Given the description of an element on the screen output the (x, y) to click on. 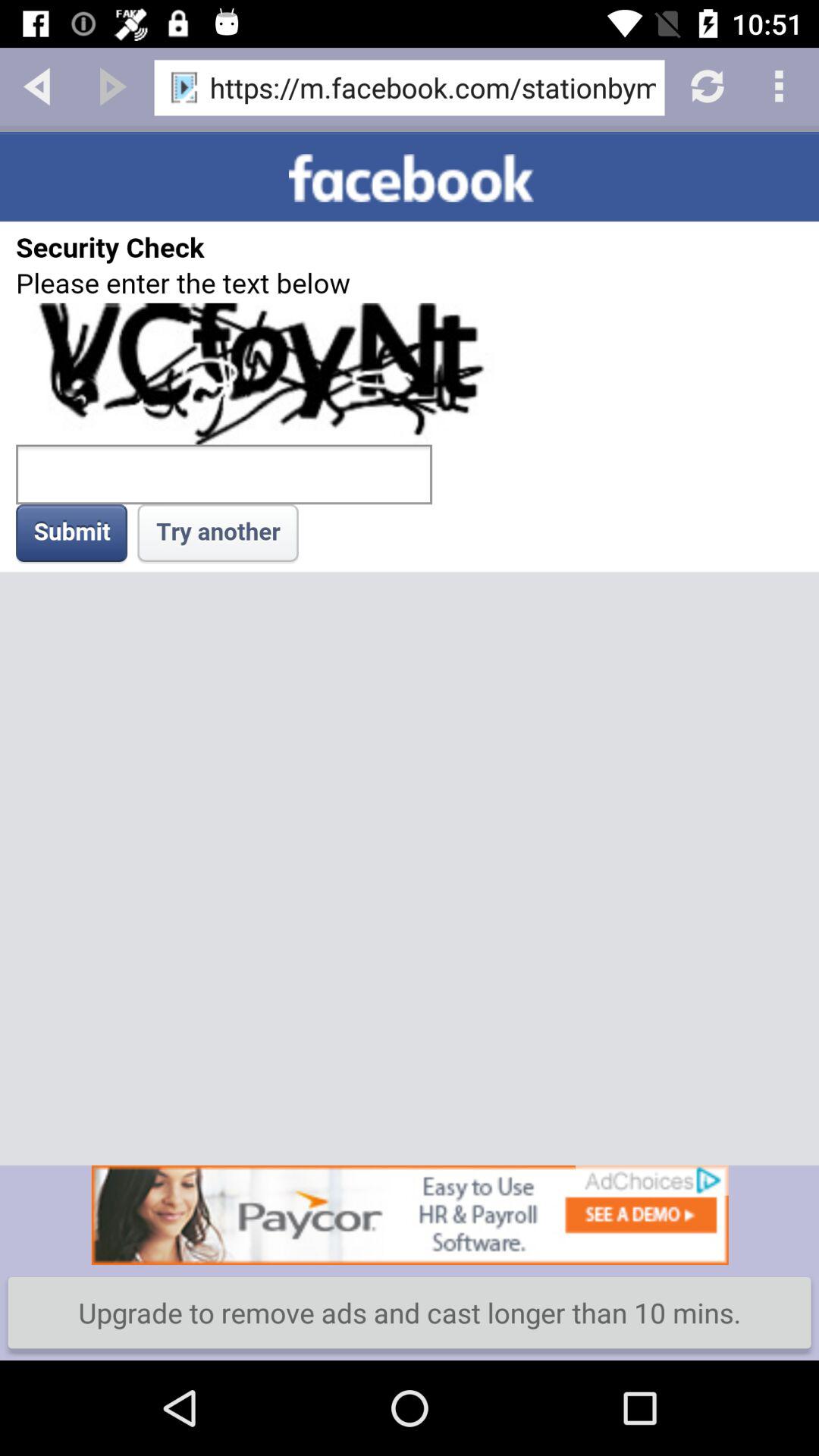
refresh page (705, 85)
